Given the description of an element on the screen output the (x, y) to click on. 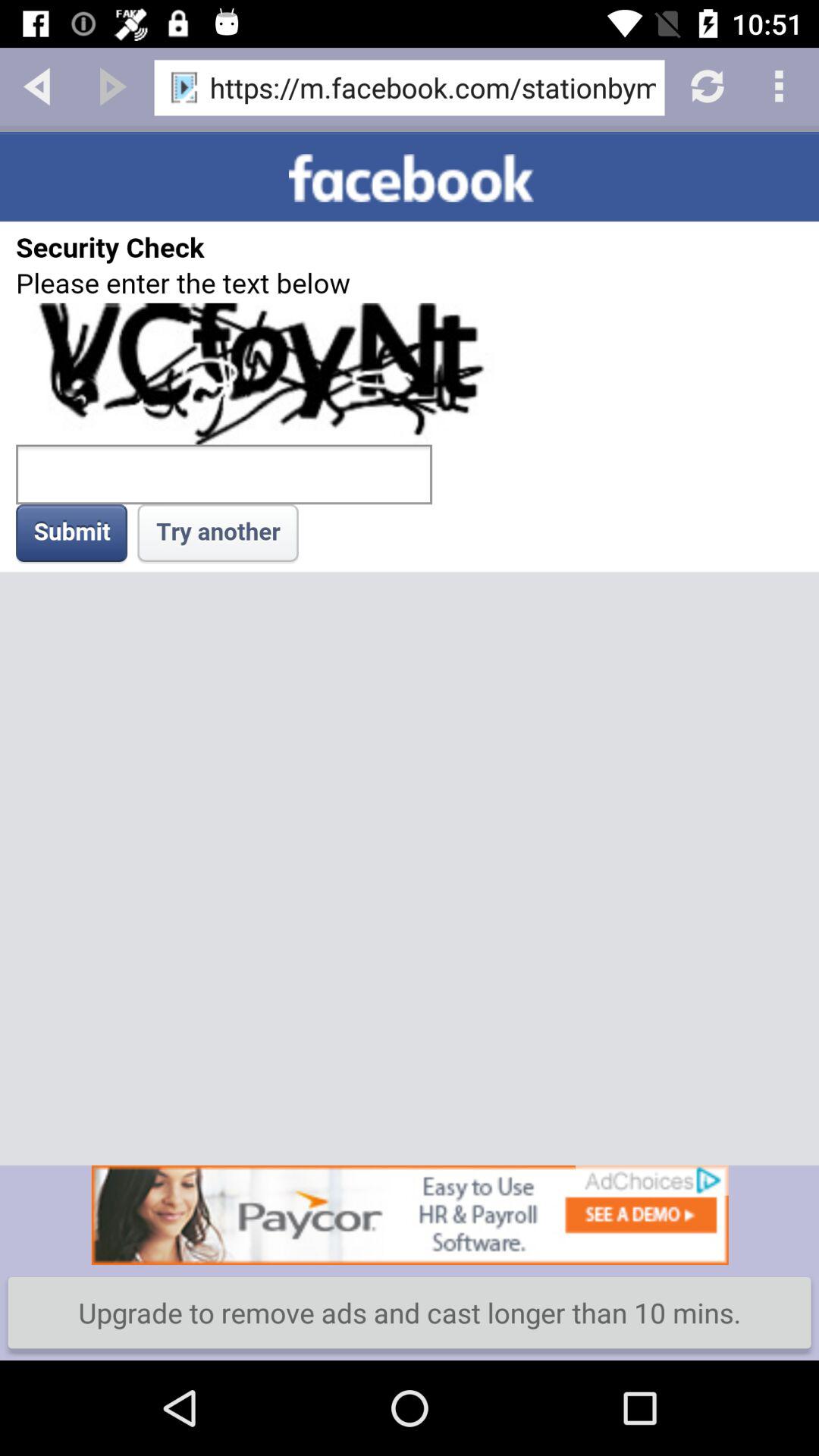
refresh page (705, 85)
